Given the description of an element on the screen output the (x, y) to click on. 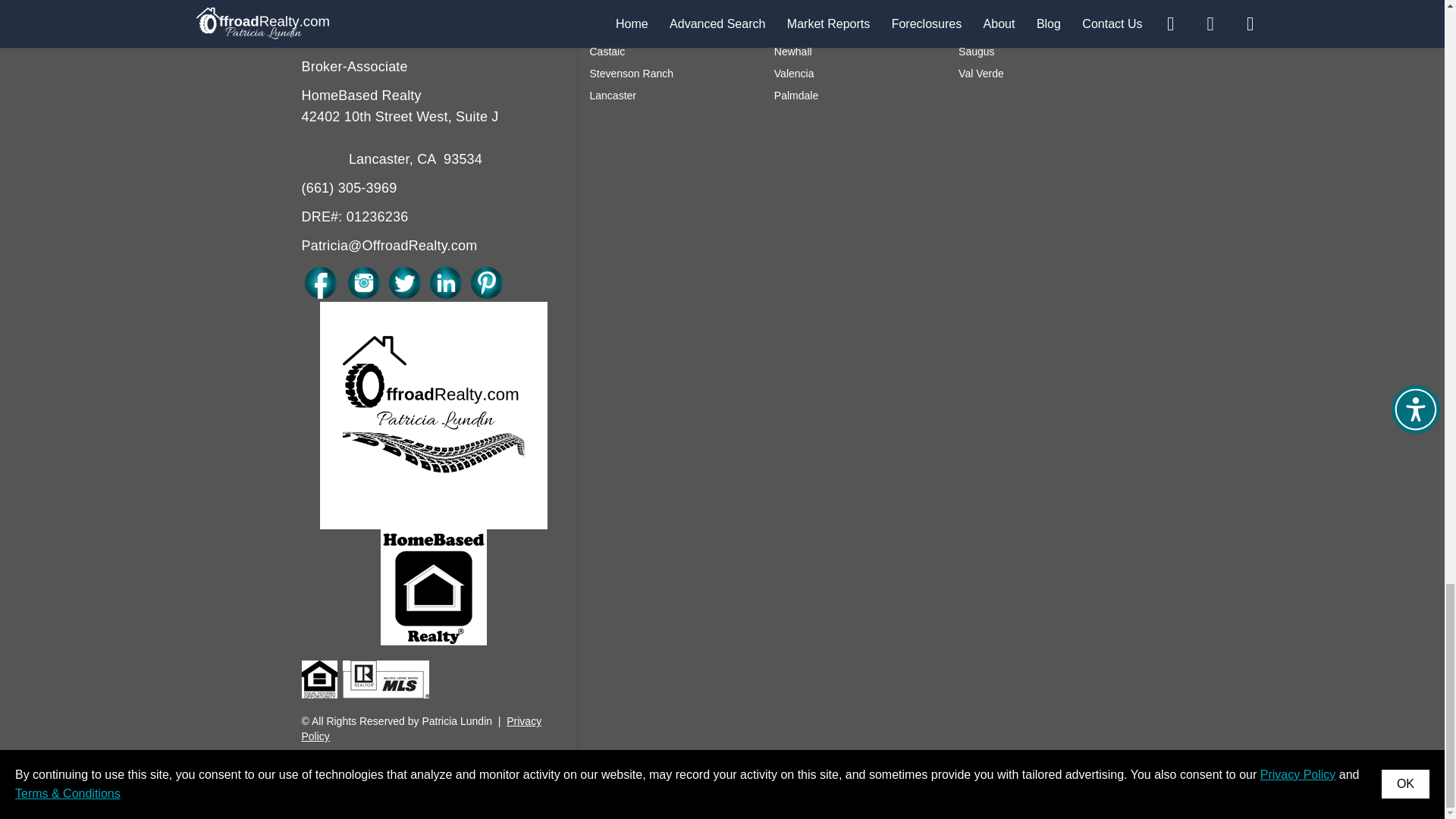
Privacy Policy (421, 728)
